Given the description of an element on the screen output the (x, y) to click on. 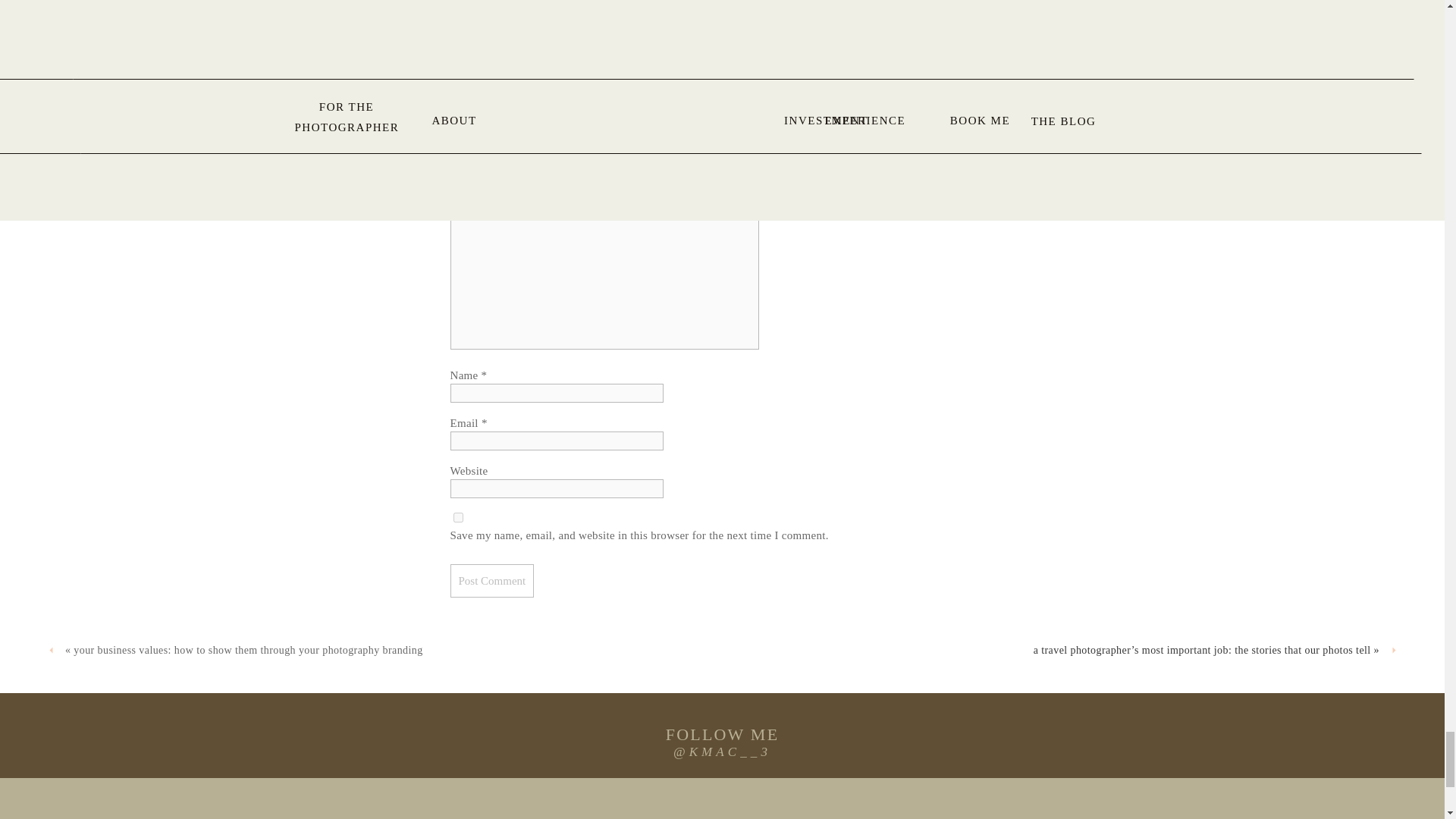
Post Comment (491, 581)
COMMENT LOVE (722, 47)
Post Comment (491, 581)
yes (457, 517)
